Given the description of an element on the screen output the (x, y) to click on. 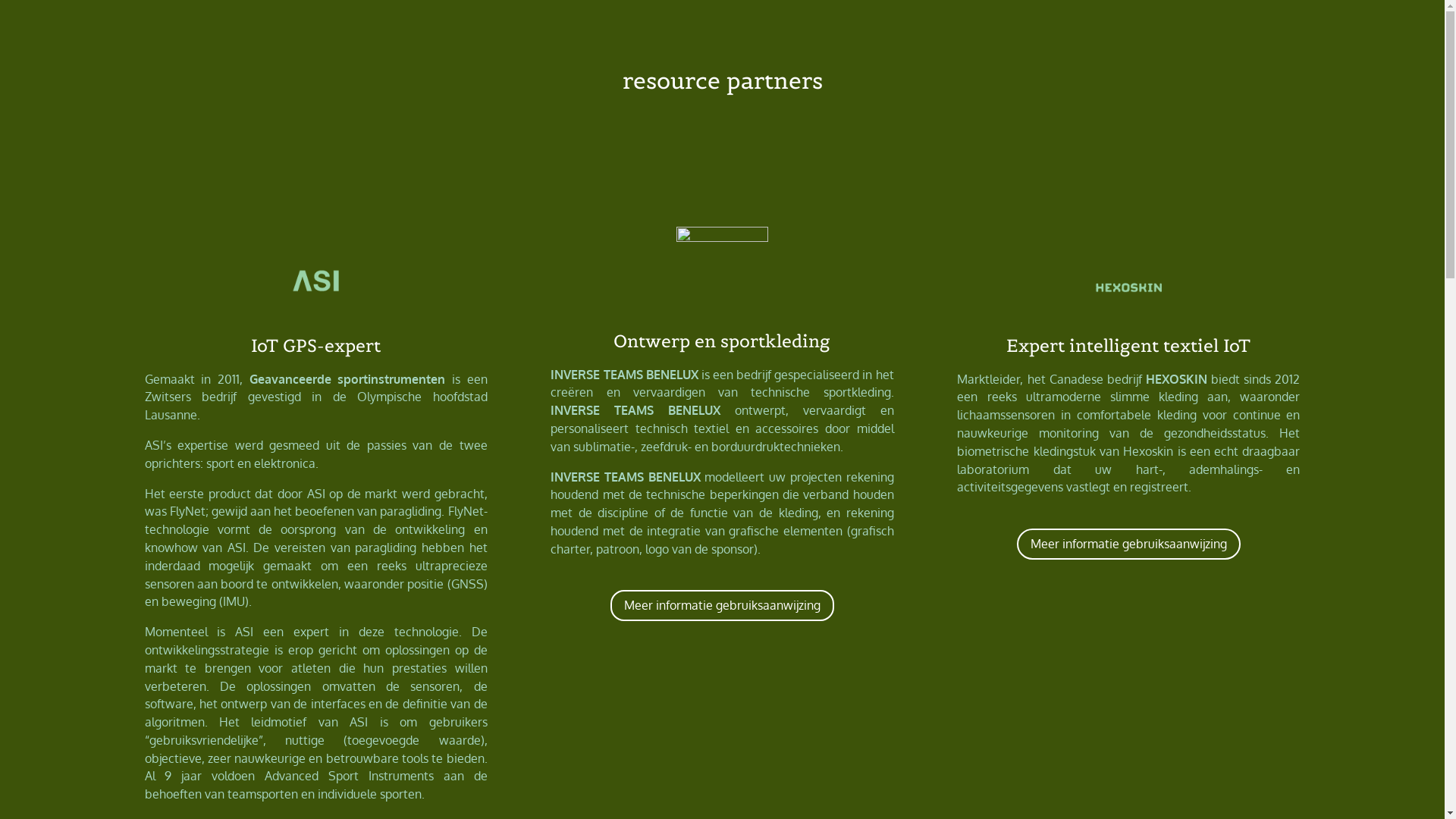
Meer informatie gebruiksaanwijzing Element type: text (722, 605)
Meer informatie gebruiksaanwijzing Element type: text (1128, 543)
